Given the description of an element on the screen output the (x, y) to click on. 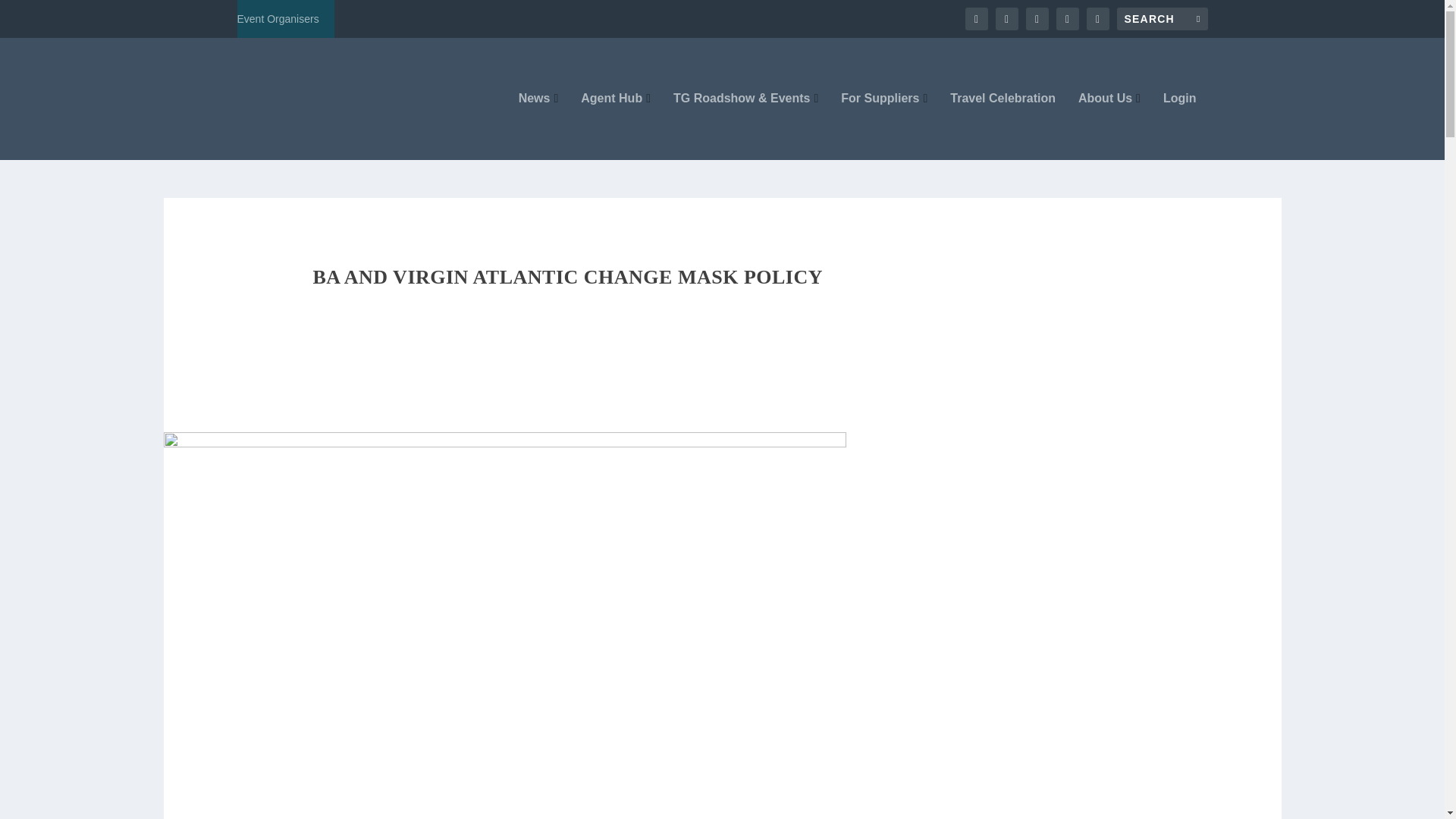
Agent Hub (615, 125)
Search for: (1161, 18)
For Suppliers (884, 125)
Event Organisers (276, 18)
